Given the description of an element on the screen output the (x, y) to click on. 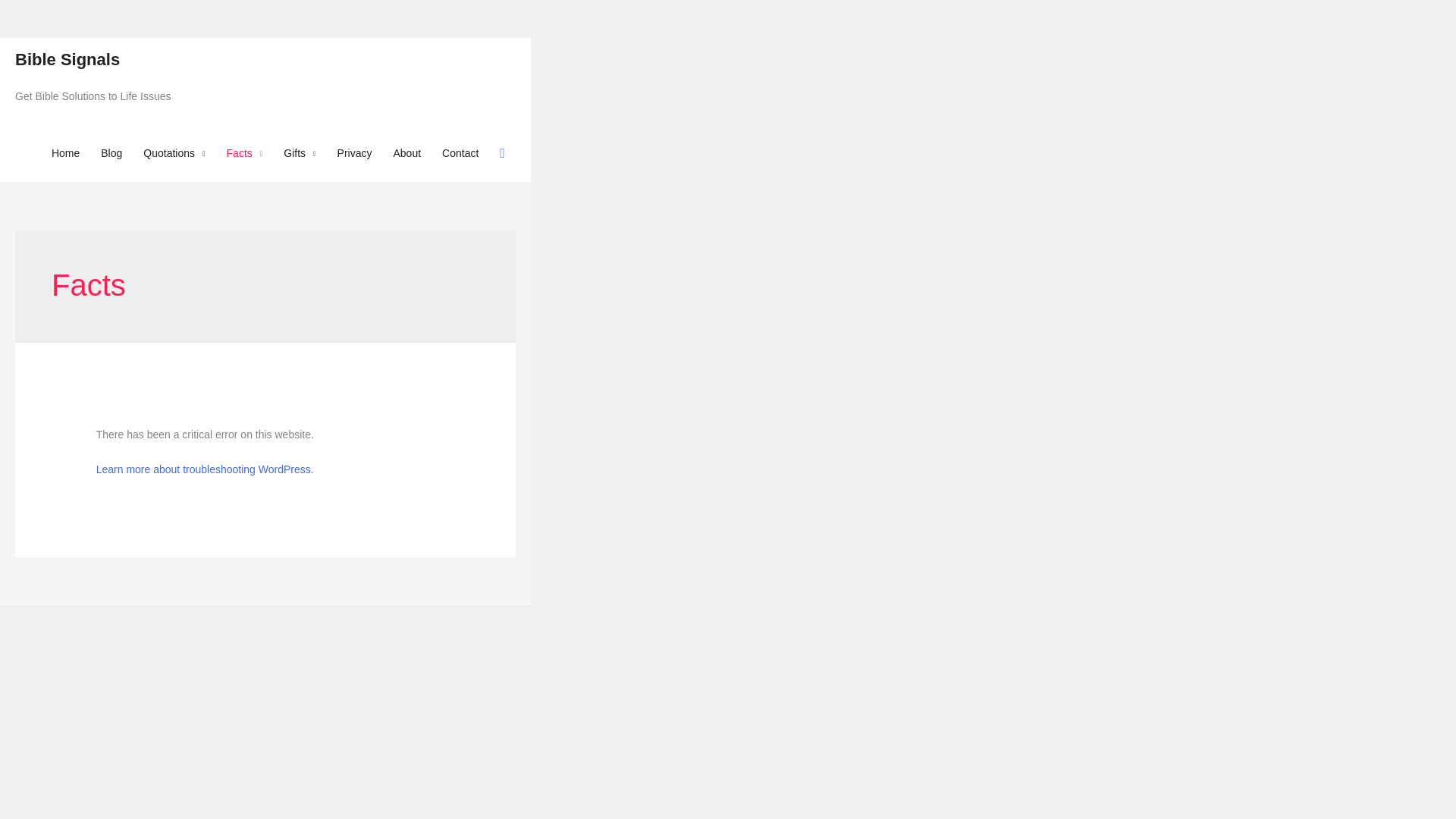
Quotations (173, 152)
Bible Signals (66, 58)
Learn more about troubleshooting WordPress. (205, 469)
Home (65, 152)
Facts (244, 152)
Blog (111, 152)
Privacy (354, 152)
Gifts (299, 152)
About (405, 152)
Contact (459, 152)
